Given the description of an element on the screen output the (x, y) to click on. 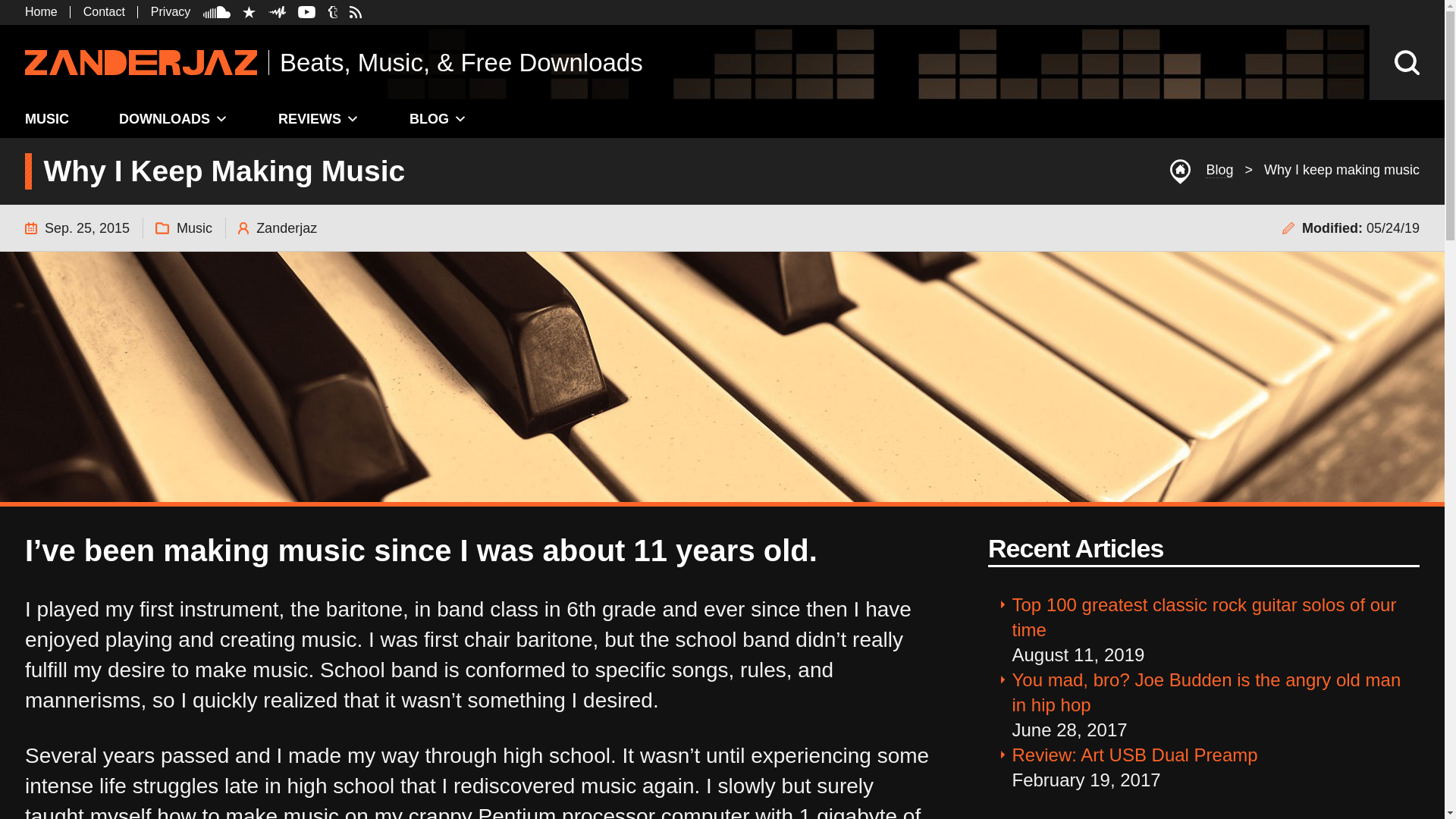
REVIEWS (318, 118)
DOWNLOADS (173, 118)
zanderjaz rss feed (355, 11)
zanderjaz on audiomack (276, 11)
Home (41, 11)
Privacy (170, 11)
Home Page (47, 118)
Contact (103, 11)
MUSIC (47, 118)
BLOG (438, 118)
